Given the description of an element on the screen output the (x, y) to click on. 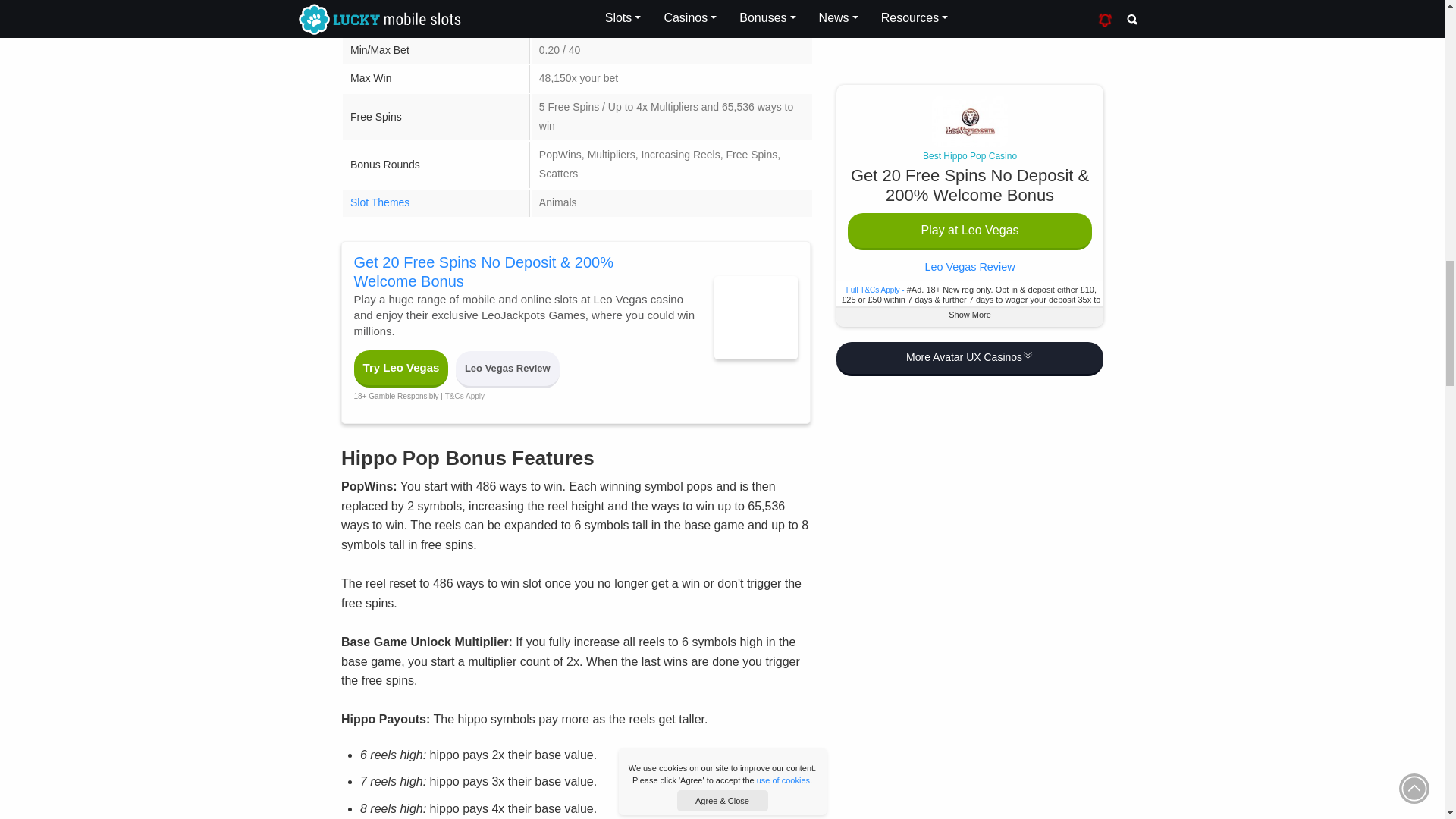
Casino Slots by Theme (379, 202)
Learn about slot volatility and variance (380, 21)
